Given the description of an element on the screen output the (x, y) to click on. 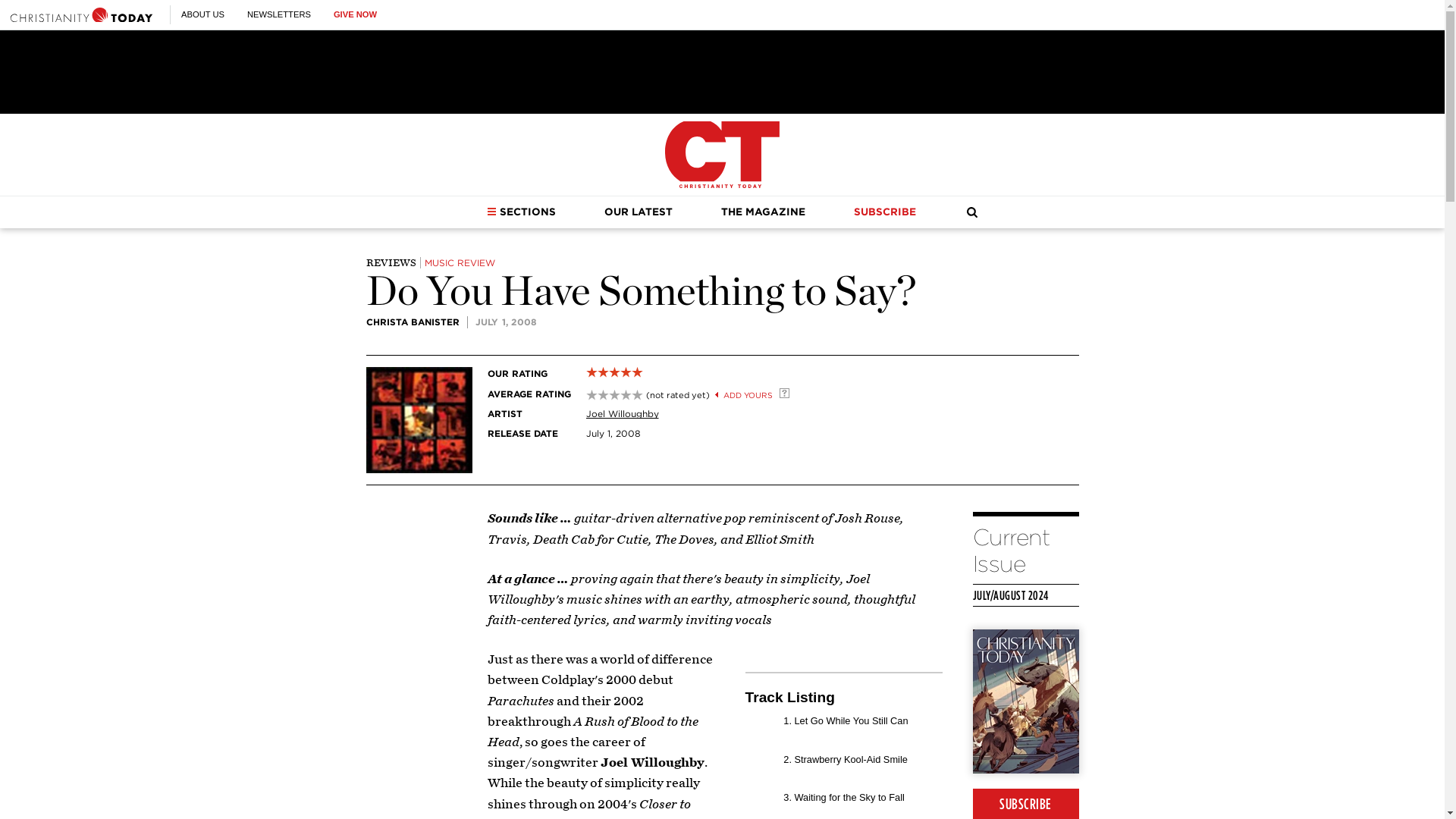
ABOUT US (202, 14)
3rd party ad content (721, 71)
NEWSLETTERS (278, 14)
GIVE NOW (355, 14)
Christianity Today (721, 154)
Sections Dropdown (491, 211)
SECTIONS (521, 212)
Christianity Today (81, 14)
